Given the description of an element on the screen output the (x, y) to click on. 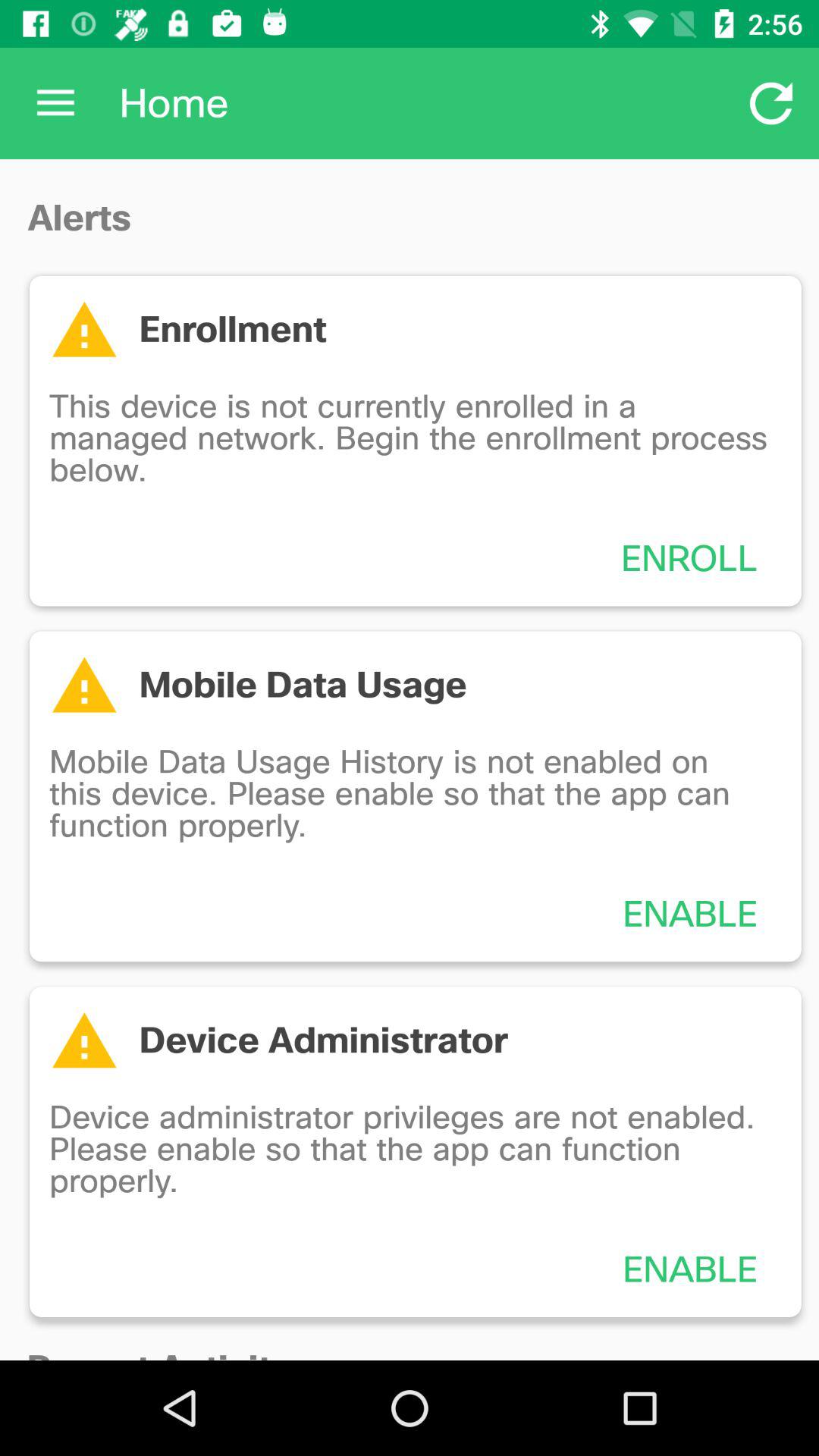
turn off item at the top right corner (771, 103)
